Given the description of an element on the screen output the (x, y) to click on. 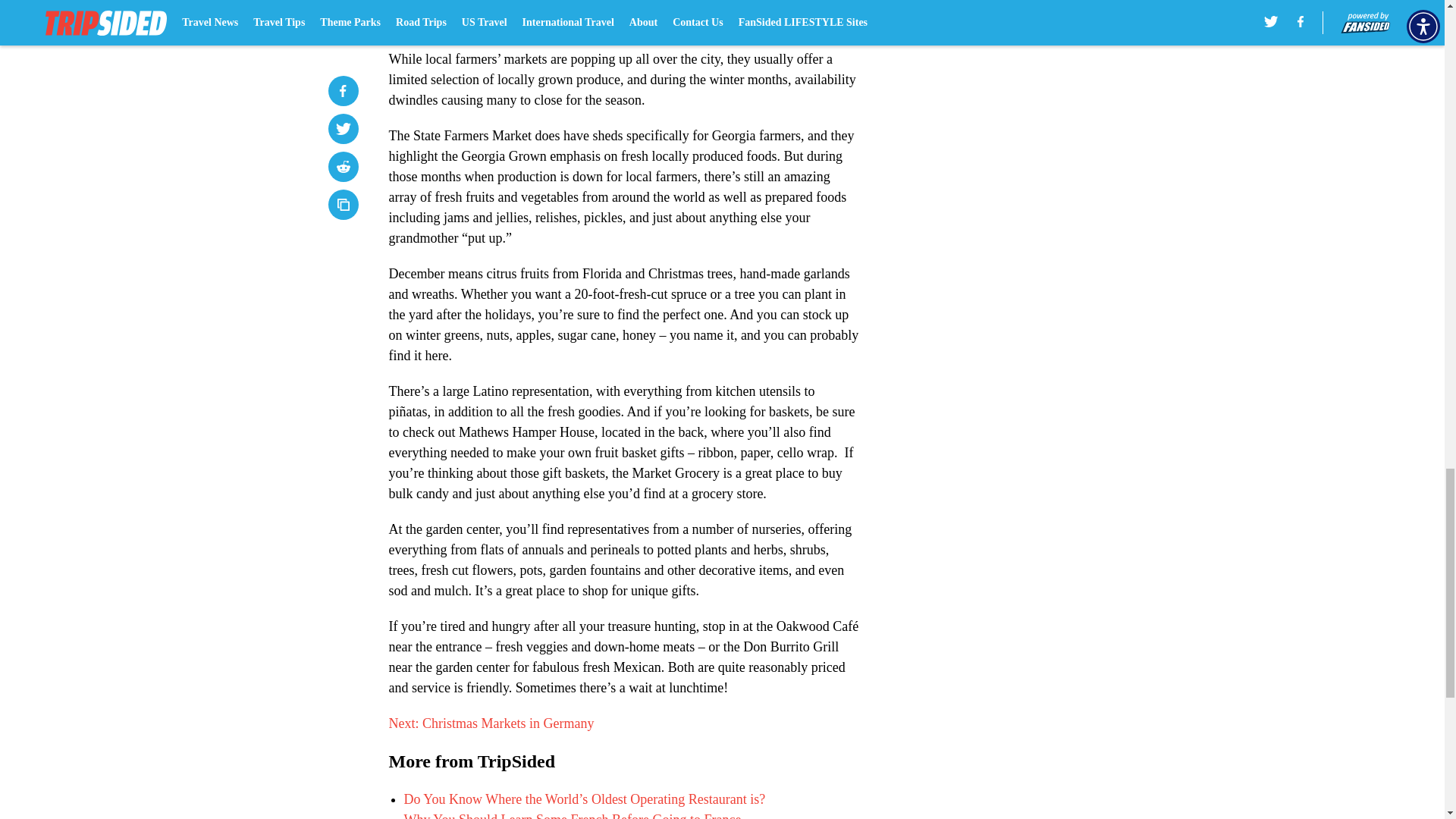
Next: Christmas Markets in Germany (491, 723)
Why You Should Learn Some French Before Going to France (572, 815)
